Given the description of an element on the screen output the (x, y) to click on. 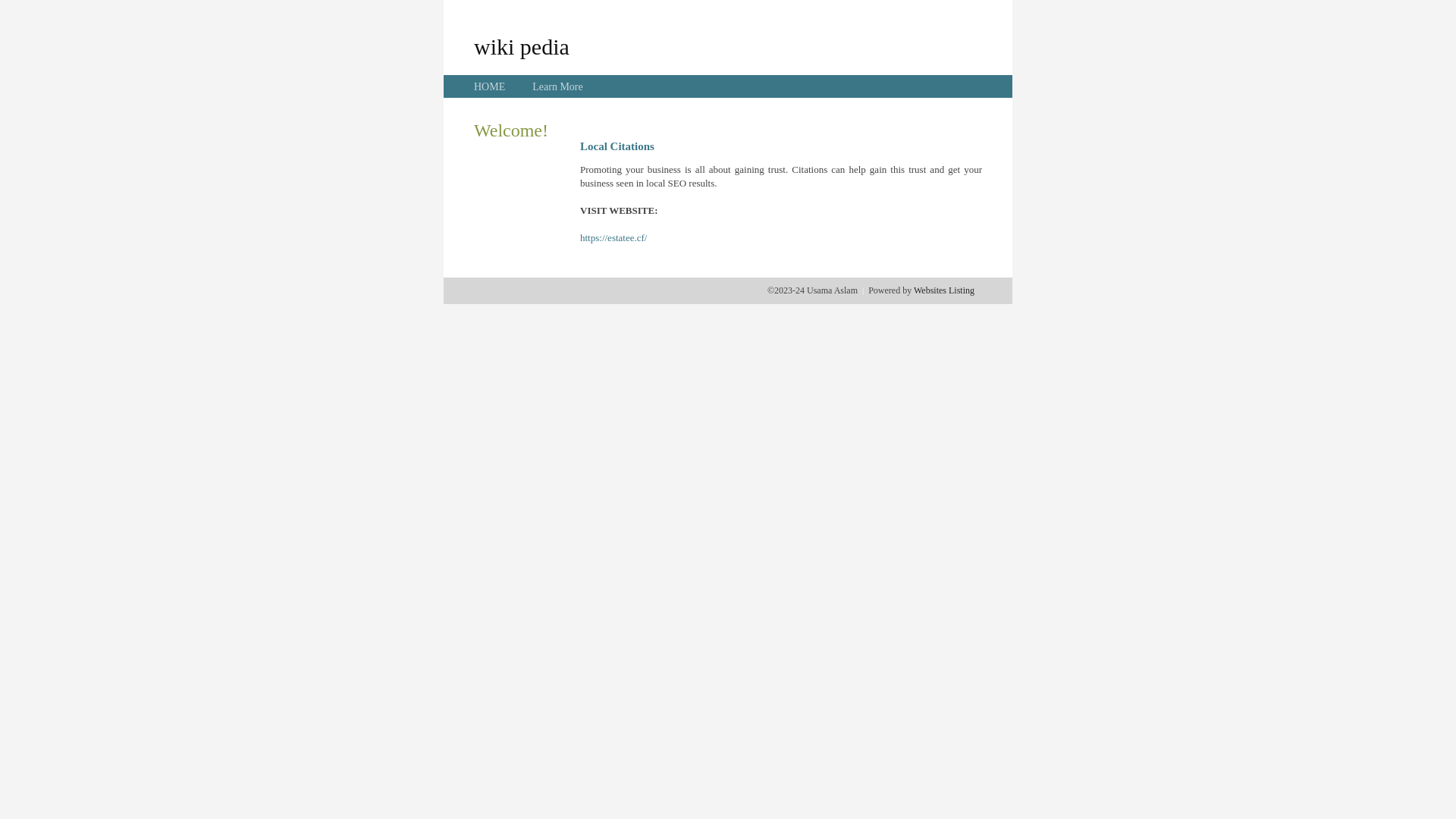
wiki pedia Element type: text (521, 46)
https://estatee.cf/ Element type: text (613, 237)
HOME Element type: text (489, 86)
Learn More Element type: text (557, 86)
Websites Listing Element type: text (943, 290)
